Given the description of an element on the screen output the (x, y) to click on. 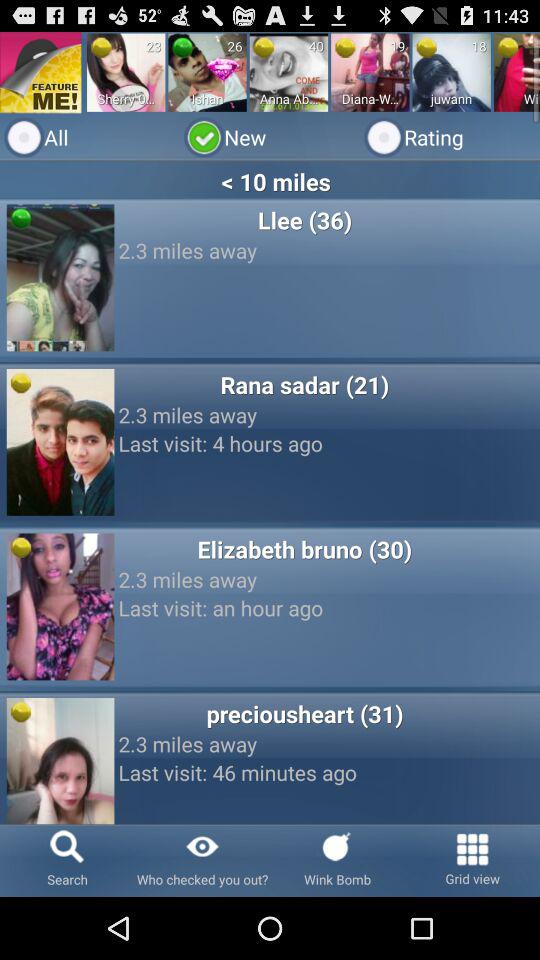
turn off the item above the ishan (222, 68)
